Given the description of an element on the screen output the (x, y) to click on. 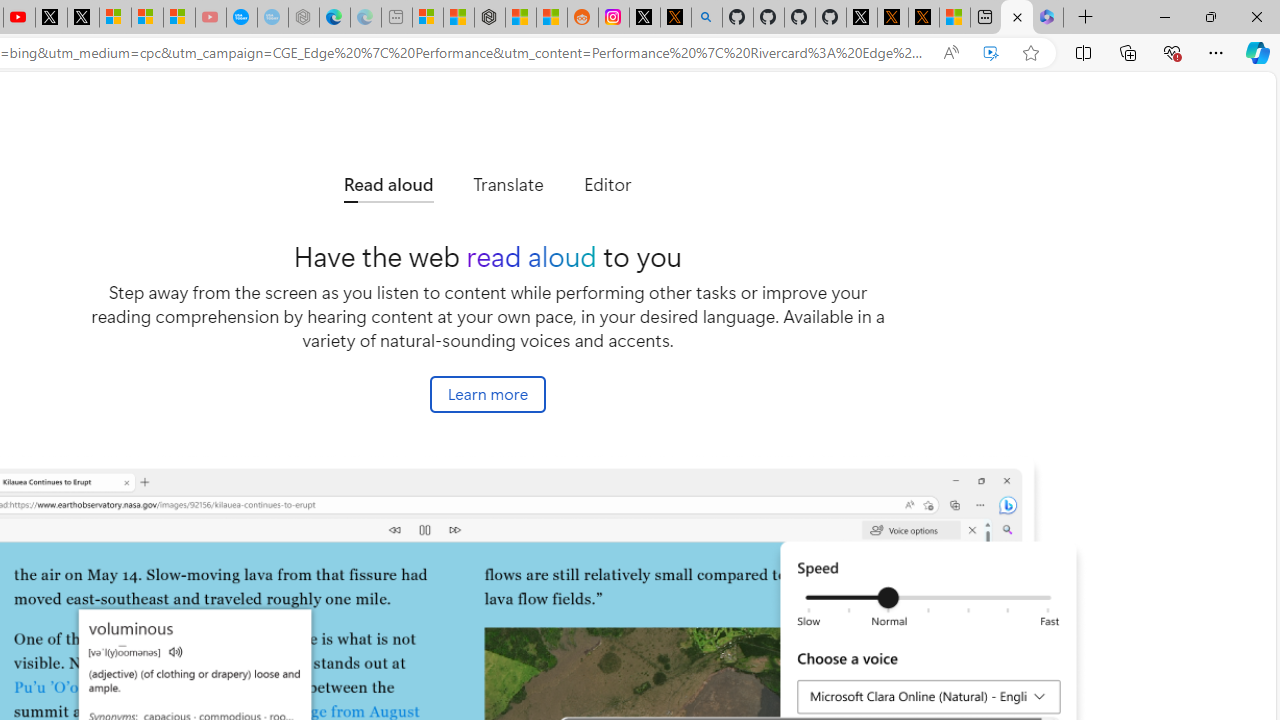
Microsoft account | Microsoft Account Privacy Settings (427, 17)
Log in to X / X (644, 17)
github - Search (706, 17)
Nordace - Duffels (489, 17)
Gloom - YouTube - Sleeping (210, 17)
Welcome to Microsoft Edge (1016, 17)
Login | Microsoft 365 (1048, 17)
X Privacy Policy (923, 17)
